Given the description of an element on the screen output the (x, y) to click on. 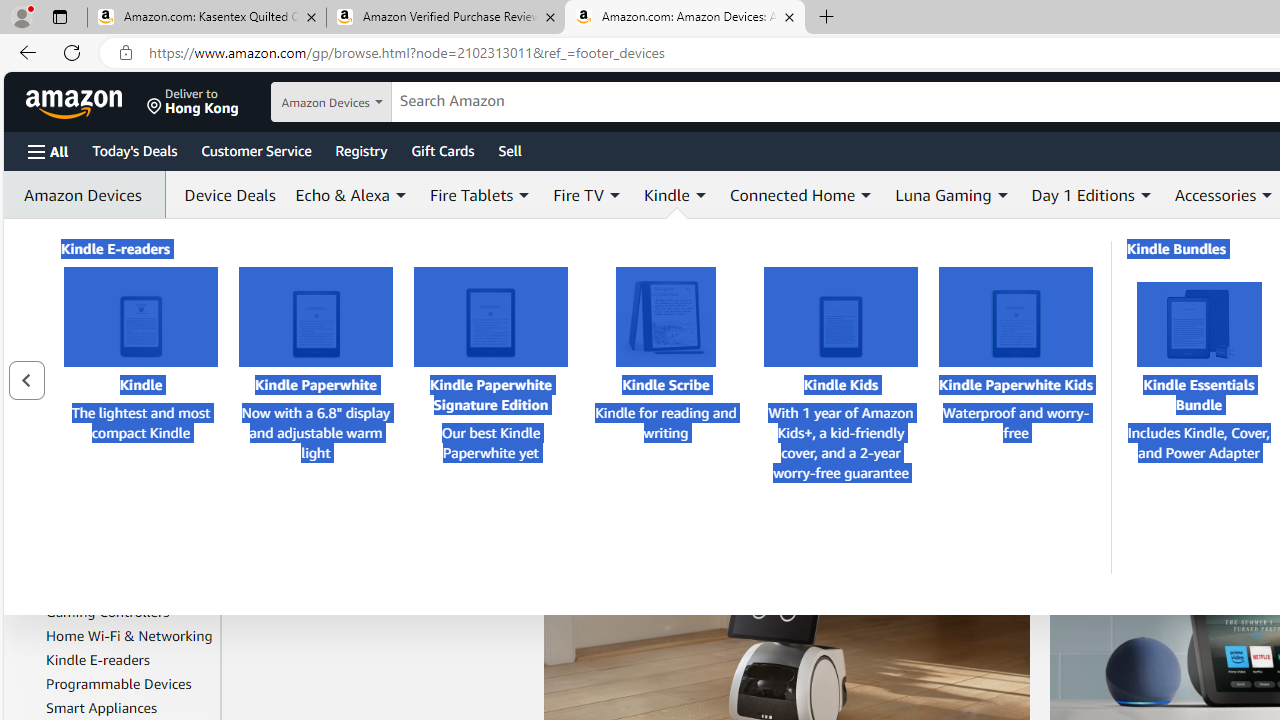
Registry (360, 150)
Kindle Kindle The lightest and most compact Kindle (141, 376)
Kindle Paperwhite Kids (1016, 317)
Smart Home Security & Lighting (120, 485)
Last 30 days (61, 271)
Open Menu (48, 151)
Kindle E-readers (129, 660)
Connected Home (802, 194)
Gaming Controllers (108, 611)
Previous page (26, 380)
Kindle Scribe (665, 317)
Home Wi-Fi & Networking (129, 636)
Fire TV (129, 563)
Expand Connected Home (866, 195)
